Given the description of an element on the screen output the (x, y) to click on. 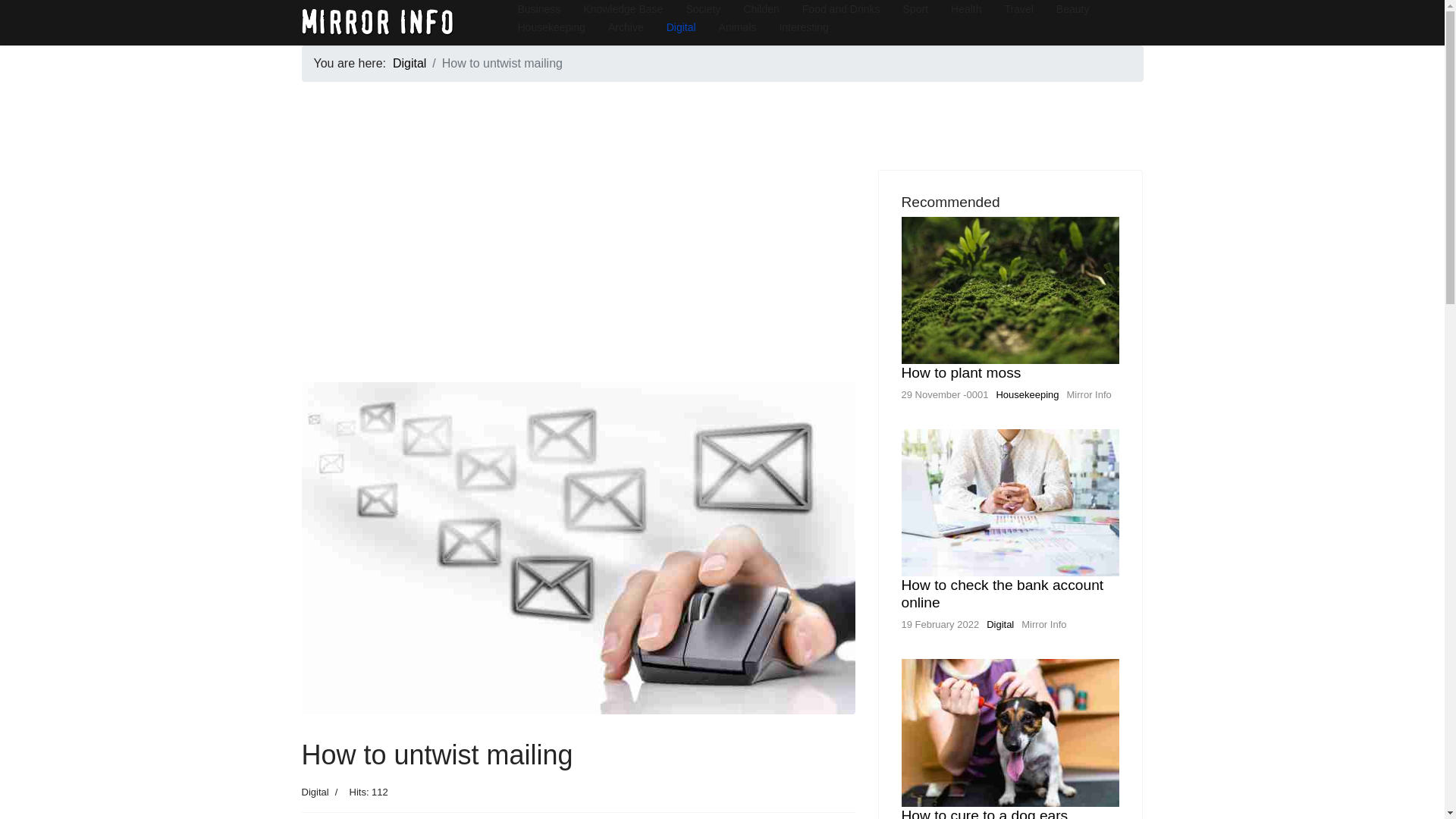
How to plant moss (960, 372)
Advertisement (578, 275)
Digital (1000, 624)
Digital (315, 791)
How to check the bank account online (1002, 593)
Housekeeping (1026, 394)
How to cure to a dog ears (984, 813)
Category: Digital (315, 792)
Digital (409, 62)
